Given the description of an element on the screen output the (x, y) to click on. 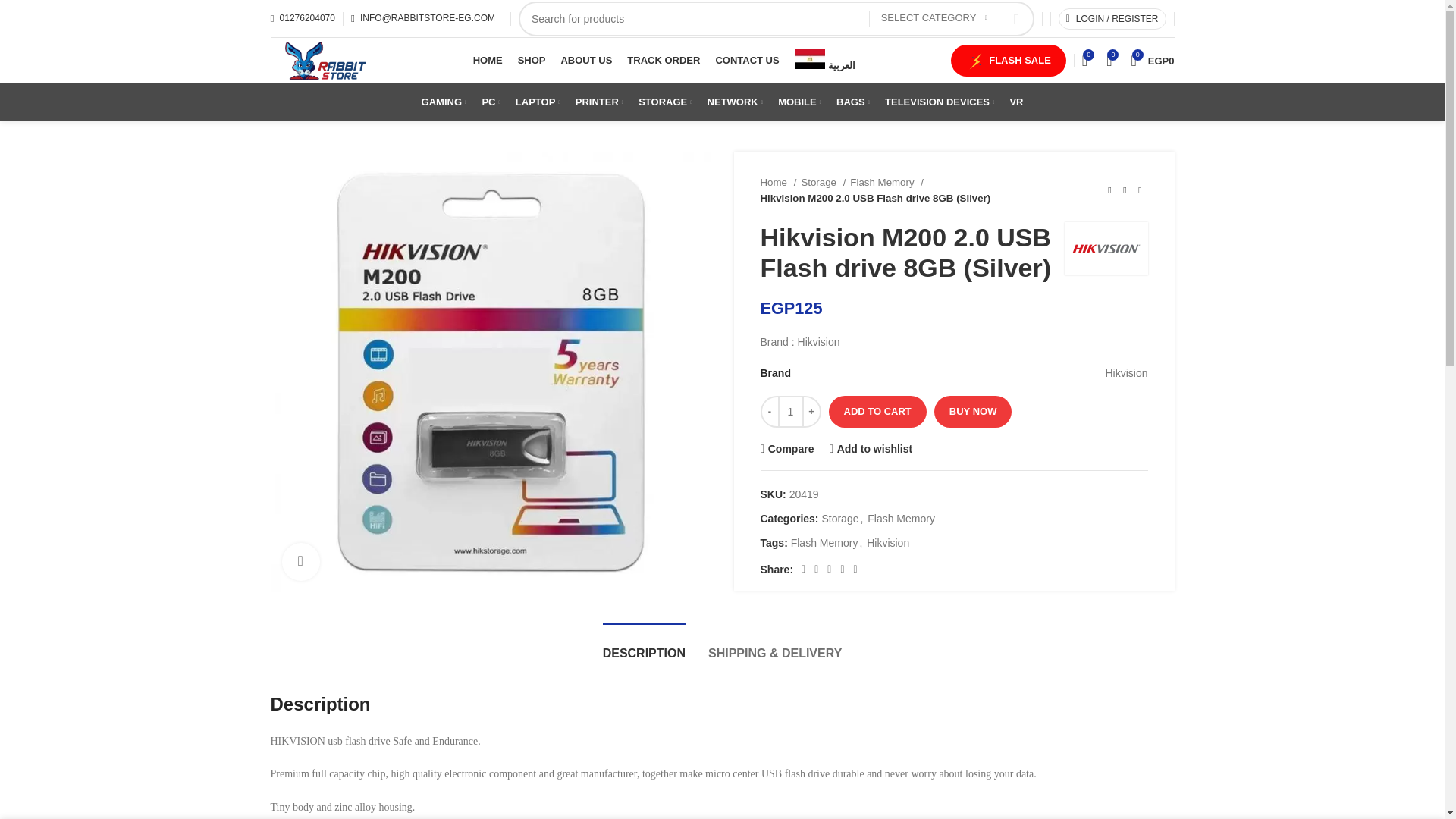
Shopping cart (1151, 60)
Search for products (775, 18)
01276204070 (301, 18)
SELECT CATEGORY (933, 18)
SELECT CATEGORY (933, 19)
Hikvision (1105, 248)
My account (1112, 18)
